Given the description of an element on the screen output the (x, y) to click on. 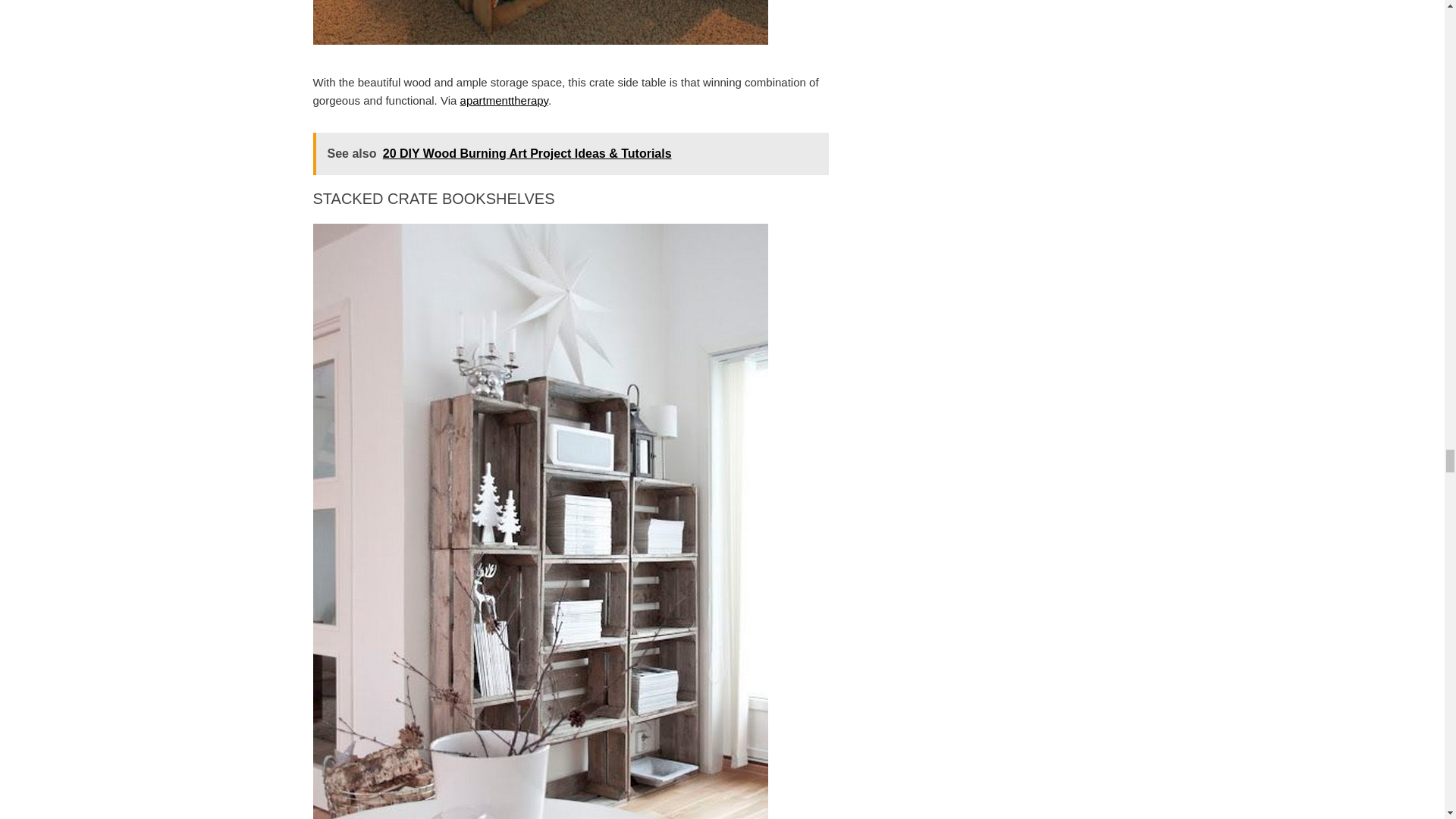
apartmenttherapy (504, 100)
